Given the description of an element on the screen output the (x, y) to click on. 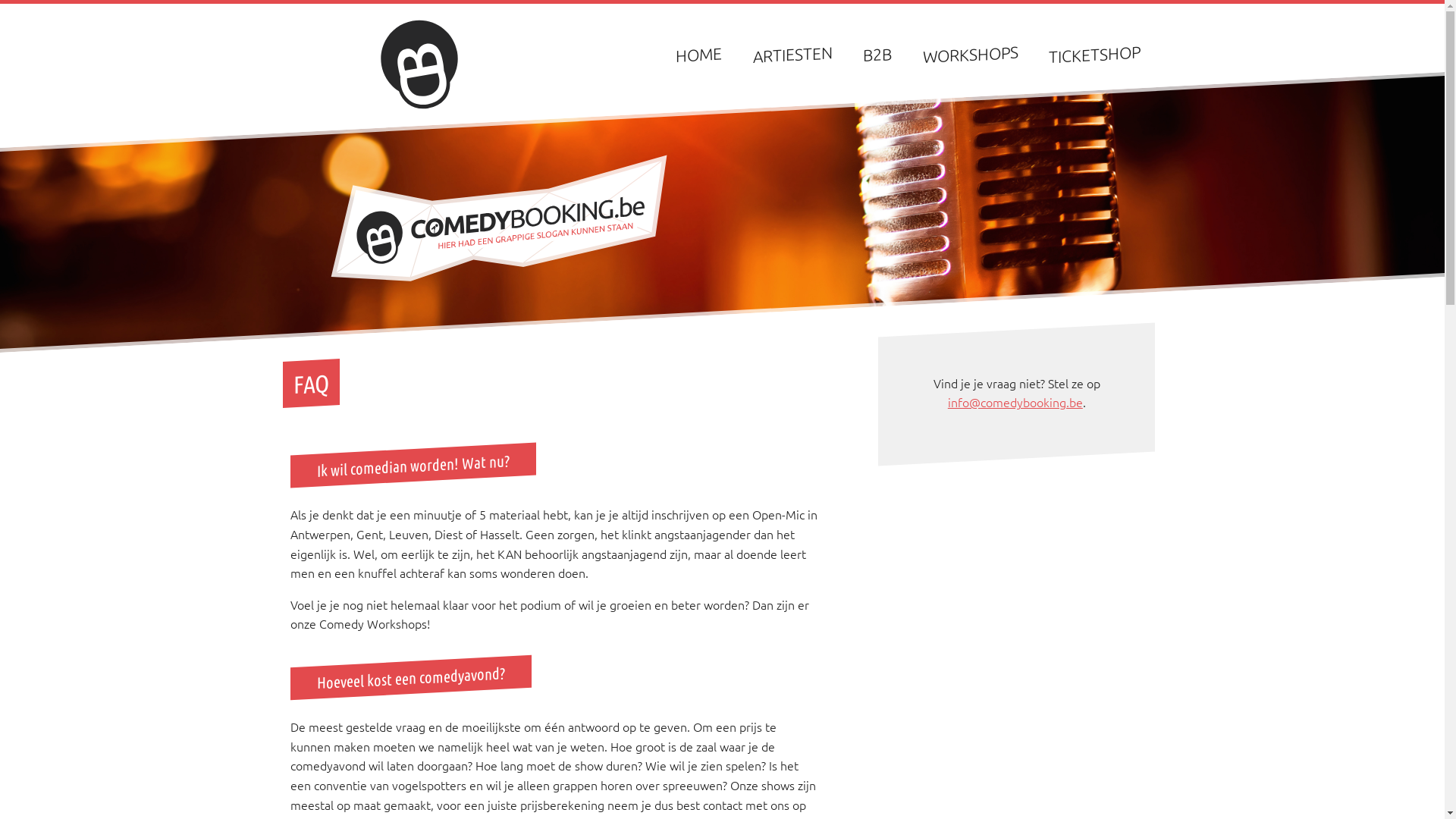
ARTIESTEN Element type: text (792, 51)
HOME Element type: text (698, 52)
TICKETSHOP Element type: text (1094, 51)
WORKSHOPS Element type: text (970, 51)
info@comedybooking.be Element type: text (1014, 401)
B2B Element type: text (877, 52)
